Given the description of an element on the screen output the (x, y) to click on. 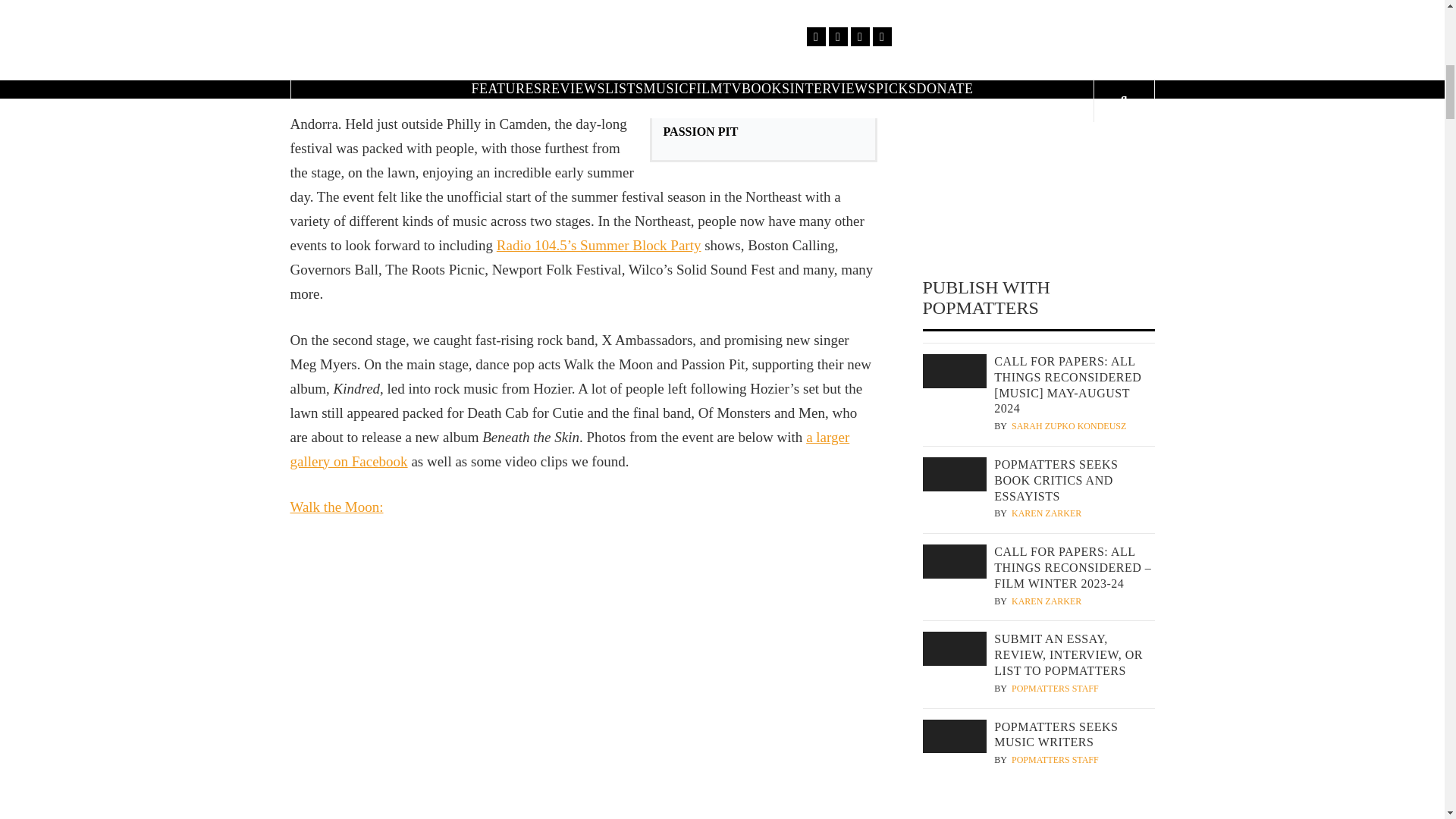
PopMatters Staff (1055, 759)
Sarah Zupko Kondeusz (1068, 426)
PopMatters Staff (1055, 688)
Radio 104.5 in Philadelphia (369, 5)
a larger gallery on Facebook (568, 449)
Walk the Moon: (335, 506)
Matthew Dwyer (1052, 42)
Karen Zarker (1046, 601)
Karen Zarker (1046, 513)
